Given the description of an element on the screen output the (x, y) to click on. 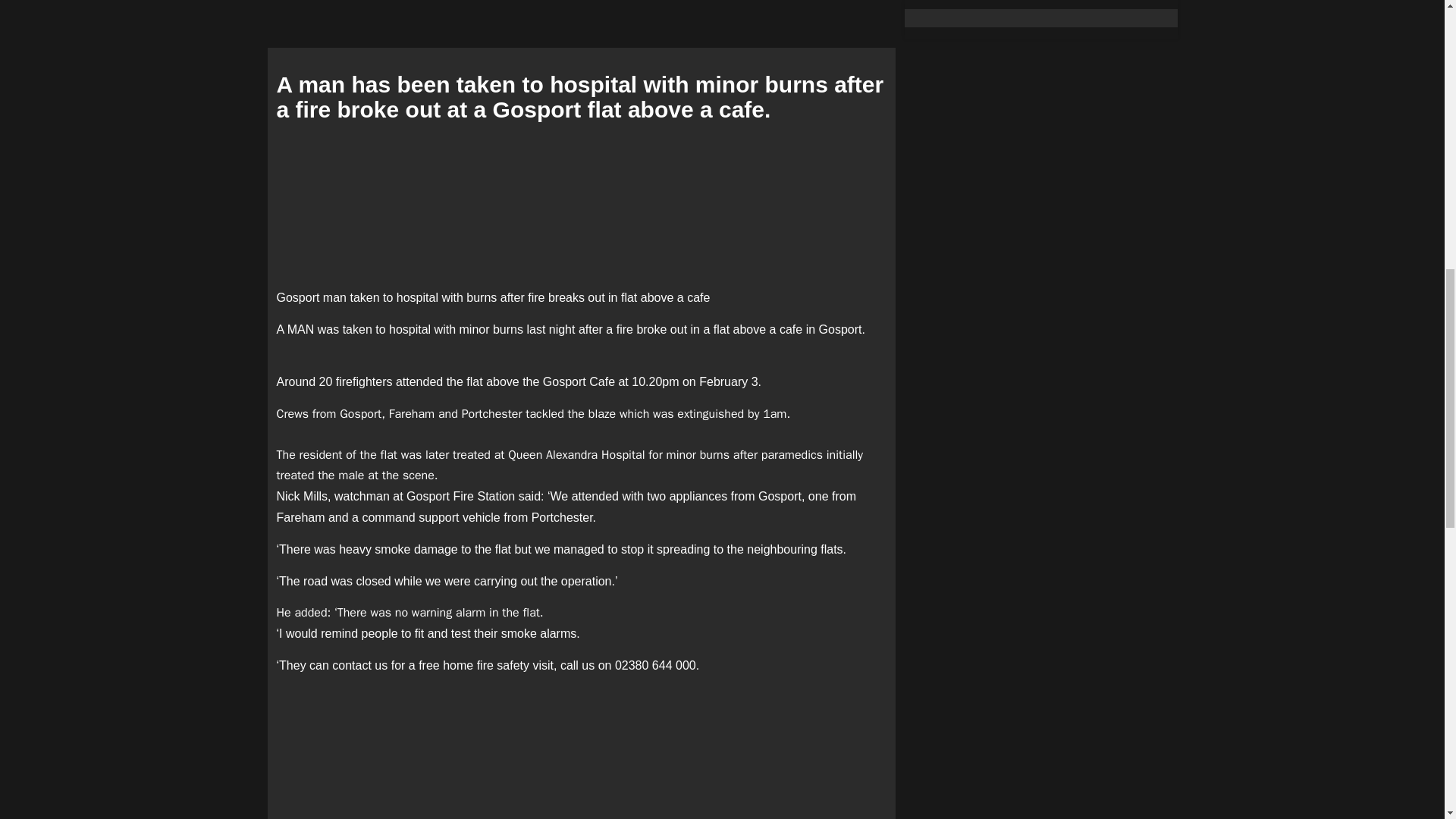
Advertisement (580, 205)
Advertisement (580, 753)
Gosport (564, 381)
